Given the description of an element on the screen output the (x, y) to click on. 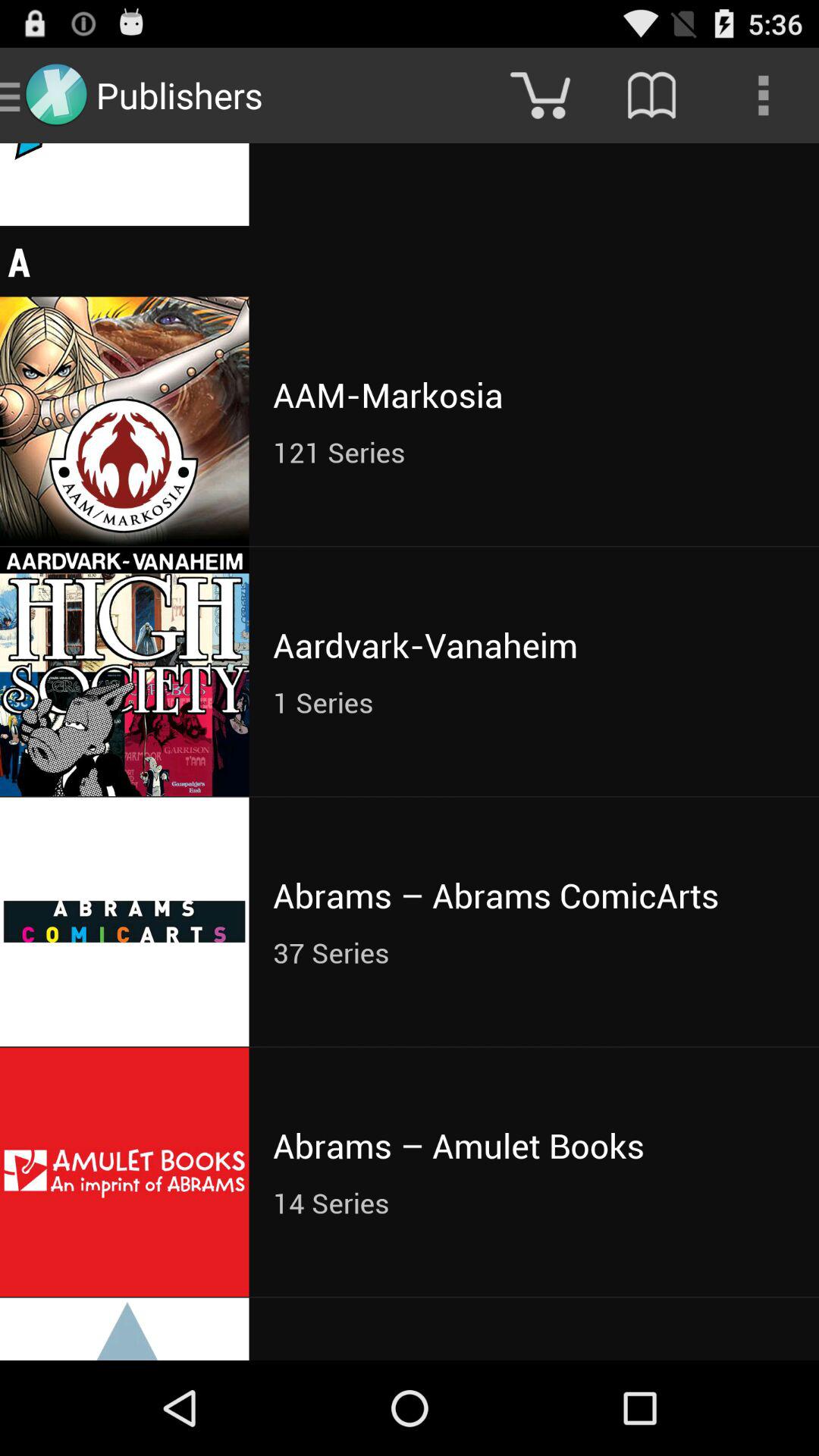
press icon above 16 series item (763, 95)
